Given the description of an element on the screen output the (x, y) to click on. 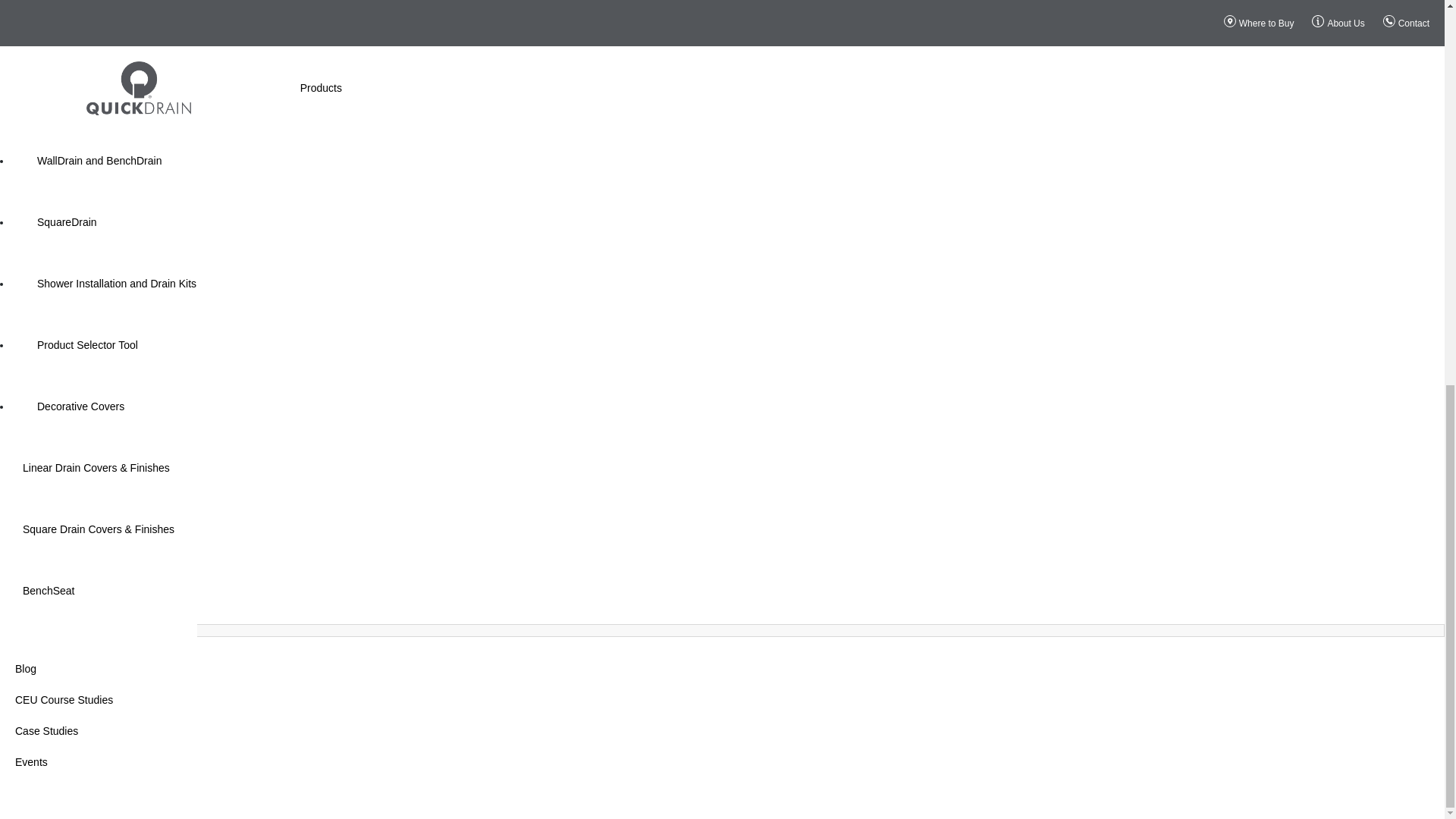
Submittals (144, 38)
Product Literature (144, 69)
Installations (144, 11)
BIM Revit (144, 100)
